Given the description of an element on the screen output the (x, y) to click on. 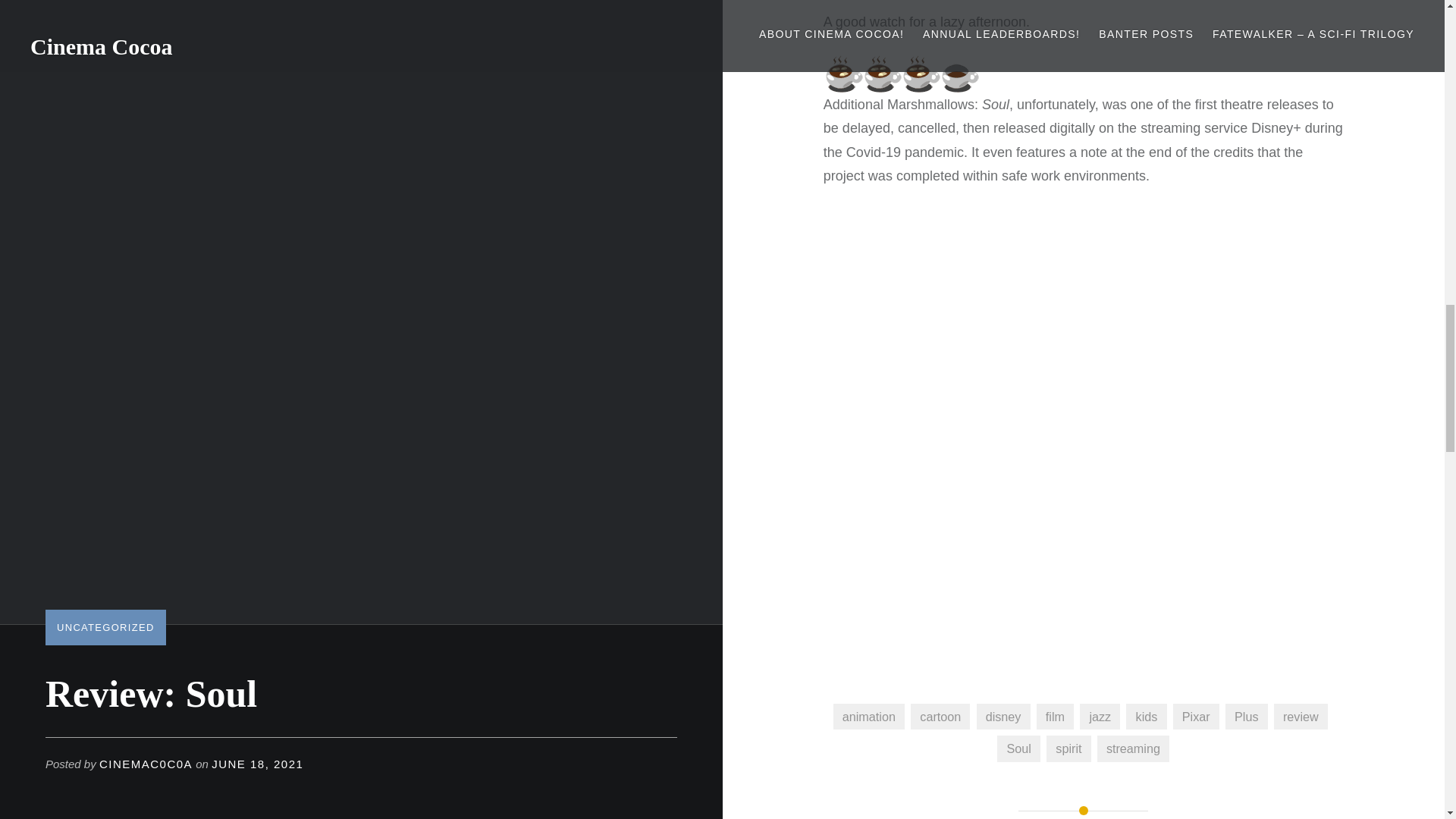
animation (868, 716)
cartoon (940, 716)
review (1300, 716)
kids (1145, 716)
jazz (1099, 716)
film (1055, 716)
disney (1003, 716)
Plus (1246, 716)
Soul (1019, 748)
spirit (1068, 748)
